Given the description of an element on the screen output the (x, y) to click on. 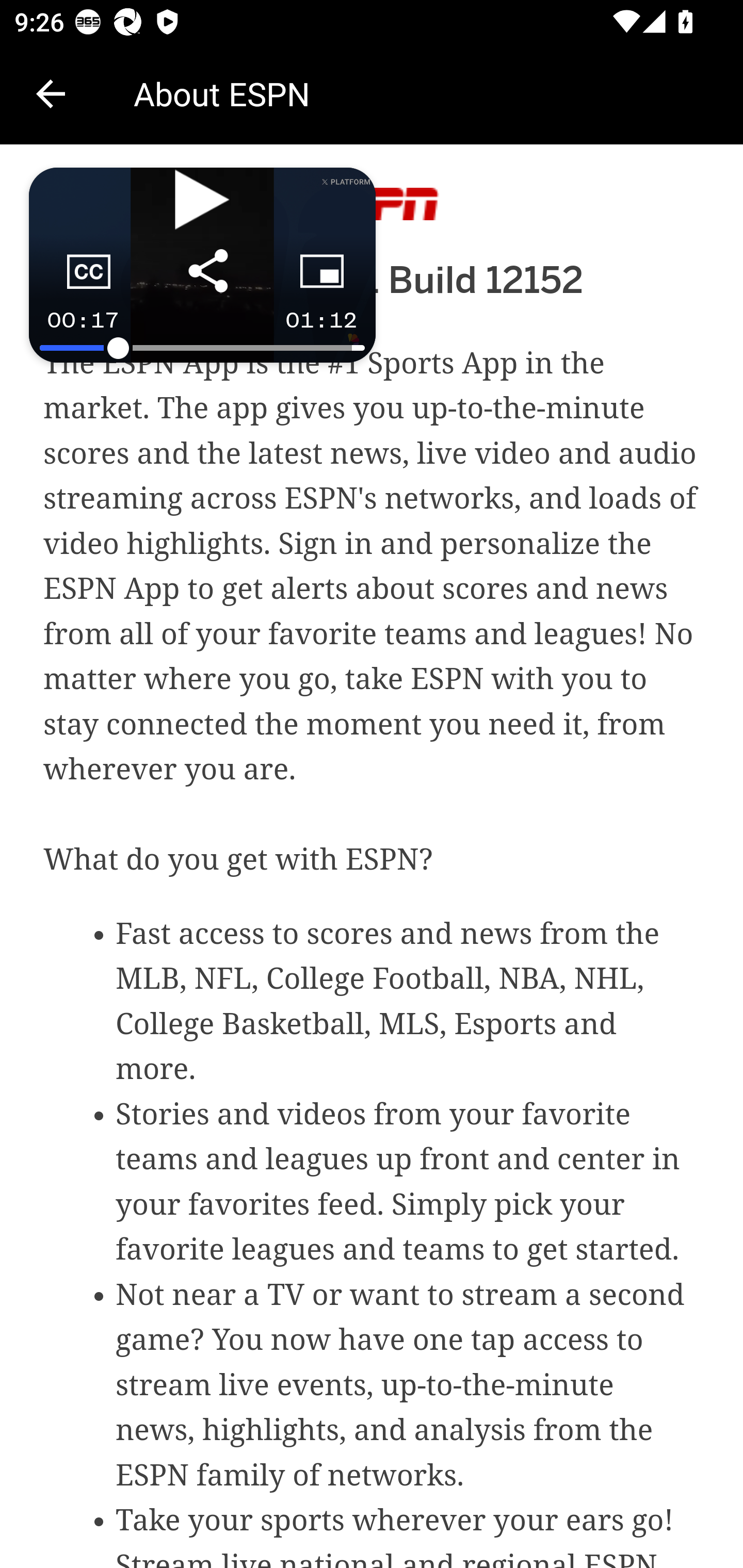
Navigate up (50, 93)
